Given the description of an element on the screen output the (x, y) to click on. 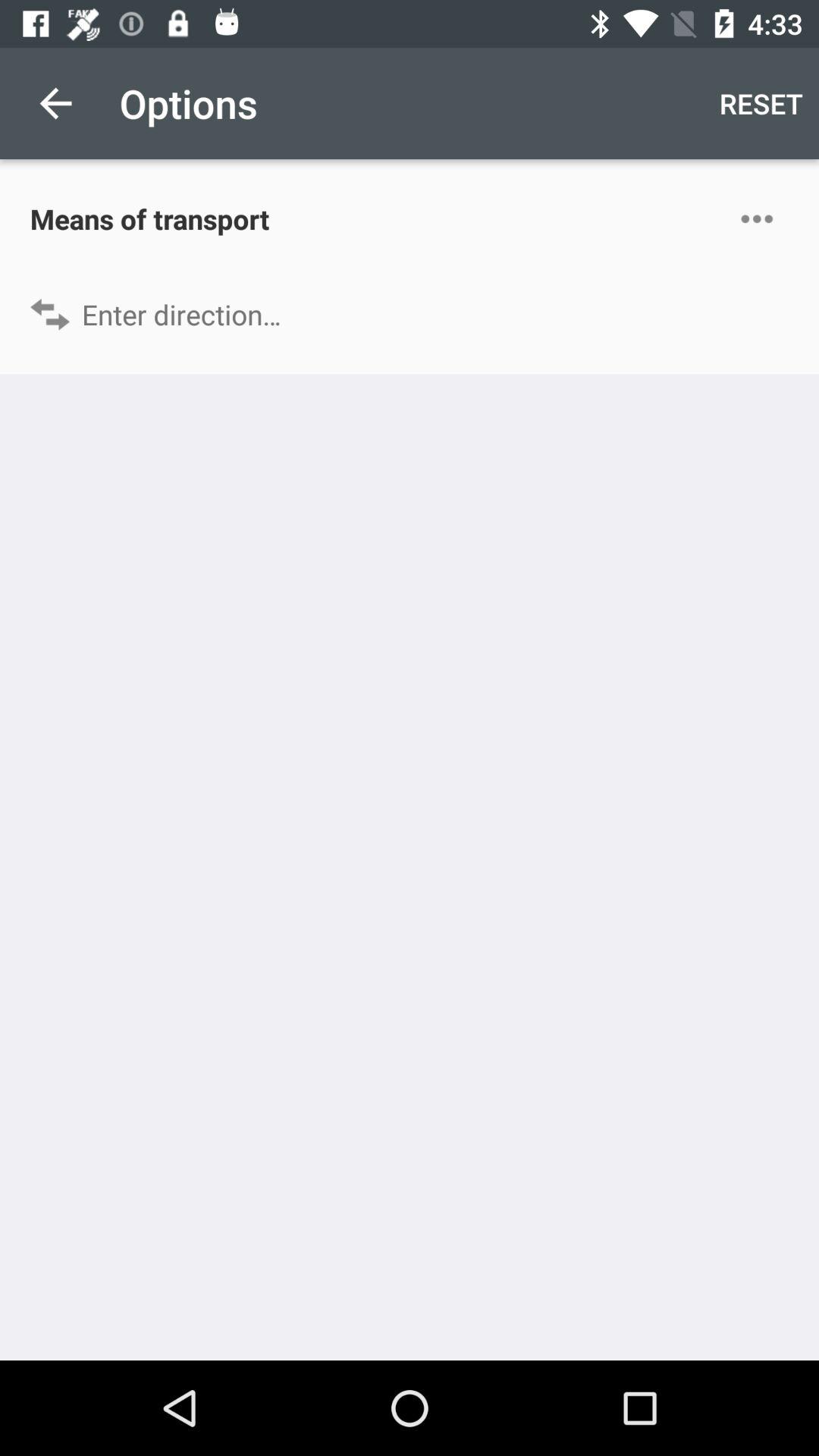
turn off the item next to the options item (761, 103)
